Given the description of an element on the screen output the (x, y) to click on. 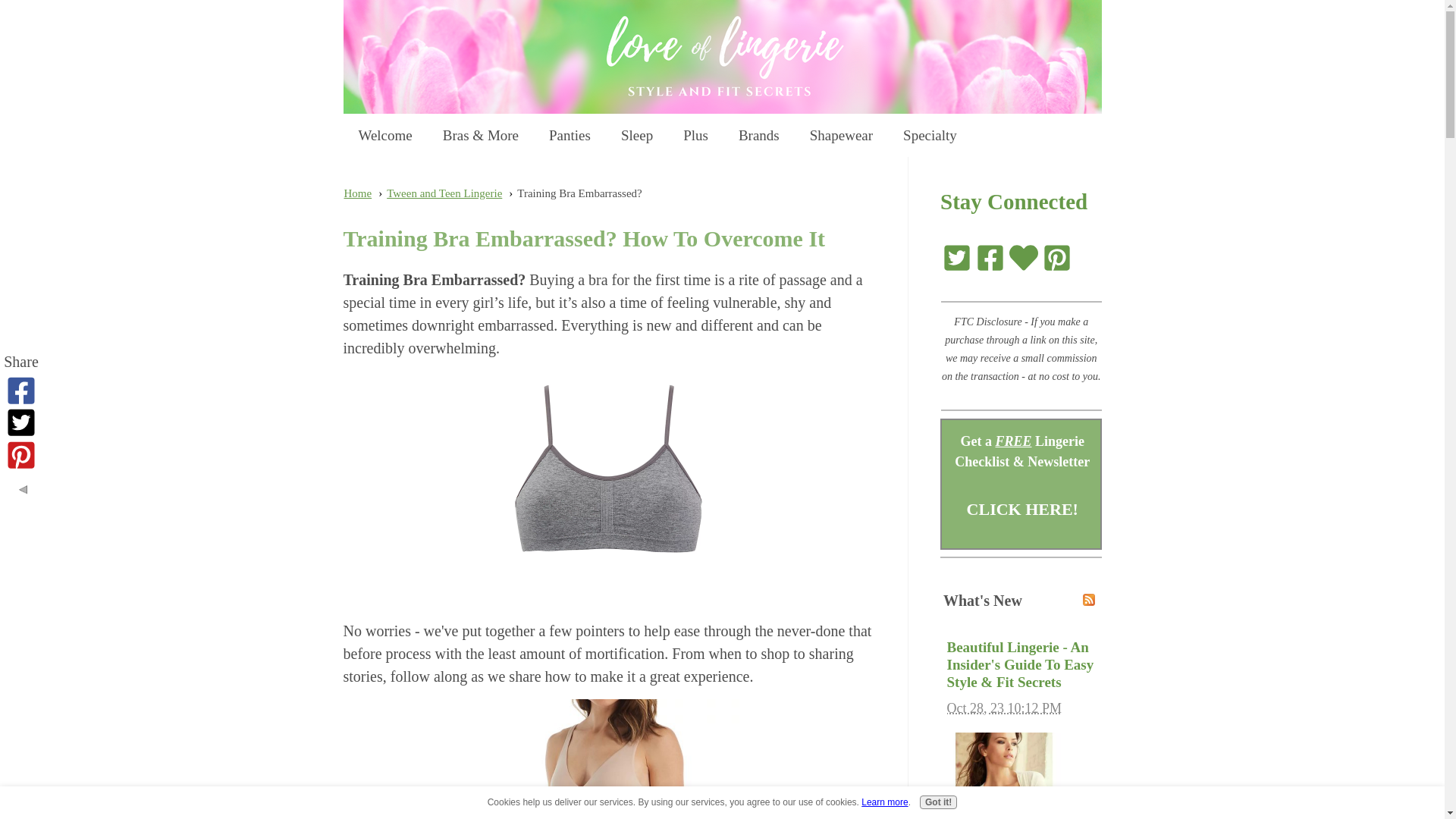
Shapewear (841, 131)
training bra embarrassed (608, 483)
2023-10-28T22:12:55-0400 (1003, 708)
Contact us (1024, 255)
